Given the description of an element on the screen output the (x, y) to click on. 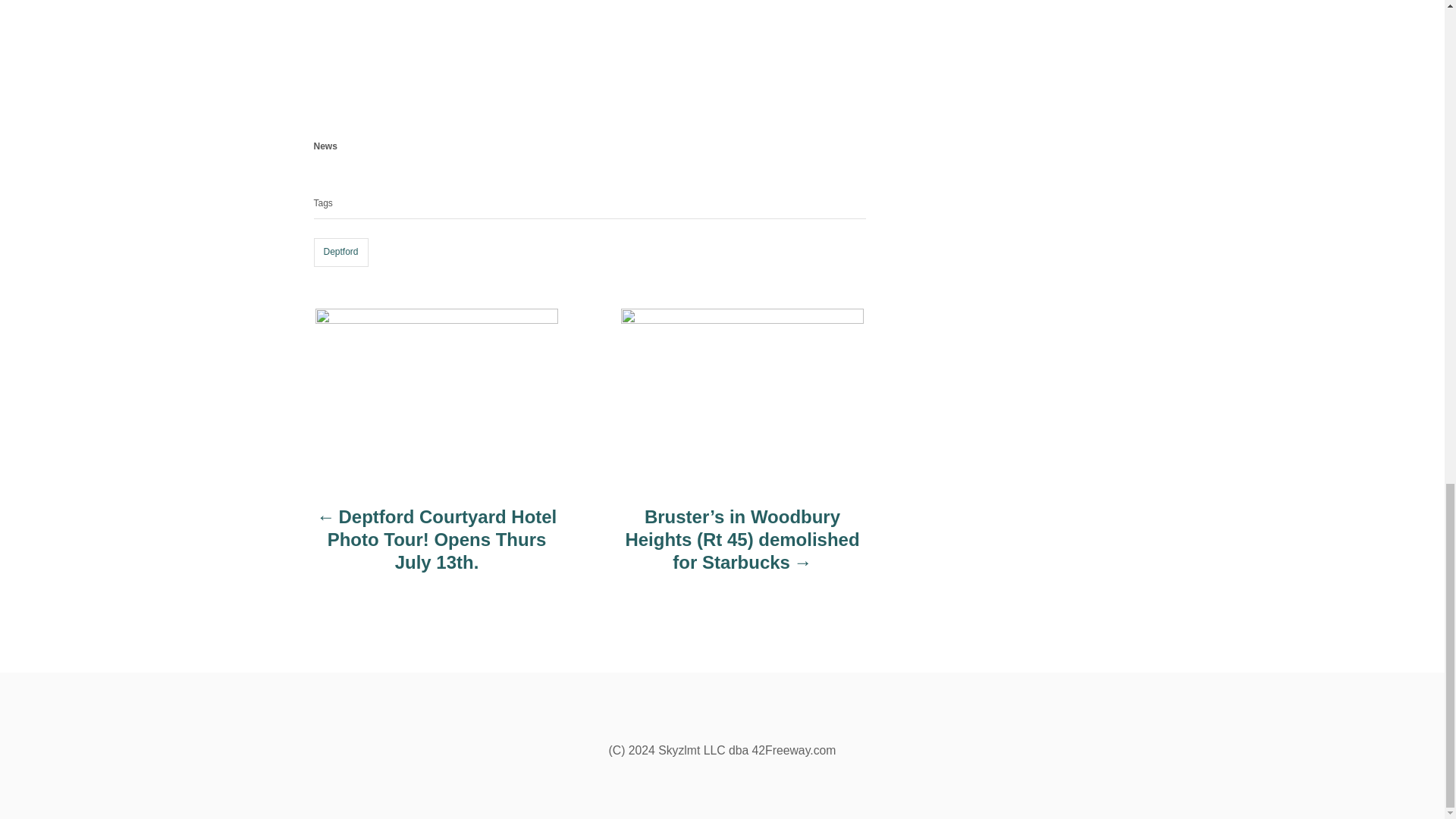
News (325, 145)
Deptford Courtyard Hotel Photo Tour! Opens Thurs July 13th. (437, 546)
Deptford (341, 252)
